Given the description of an element on the screen output the (x, y) to click on. 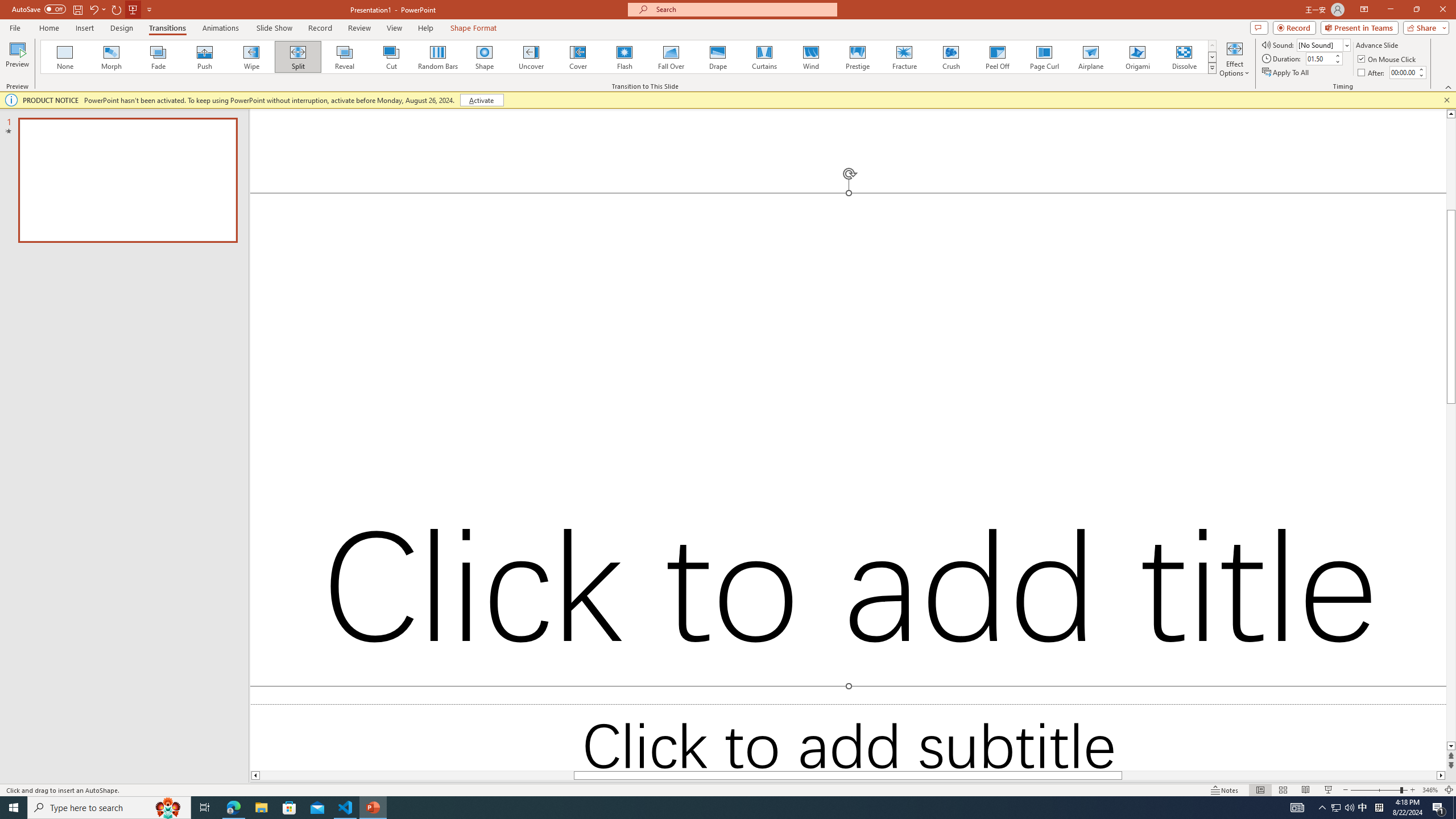
Zoom 346% (1430, 790)
Origami (1136, 56)
Wind (810, 56)
Prestige (857, 56)
Page Curl (1043, 56)
